Given the description of an element on the screen output the (x, y) to click on. 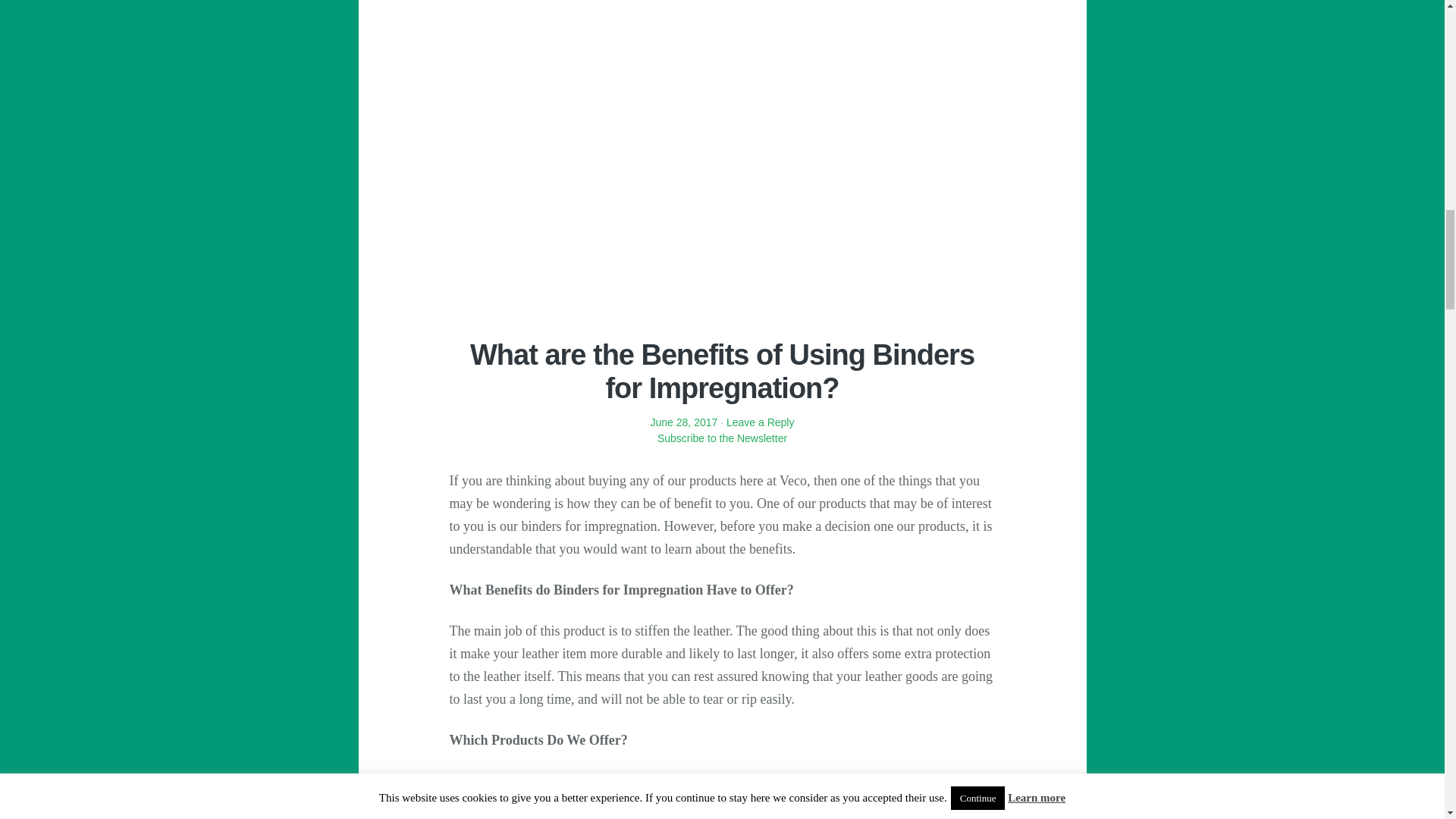
Leave a Reply (760, 422)
June 28, 2017 (683, 422)
What are the Benefits of Using Binders for Impregnation? (722, 371)
Subscribe to the Newsletter (721, 445)
